Given the description of an element on the screen output the (x, y) to click on. 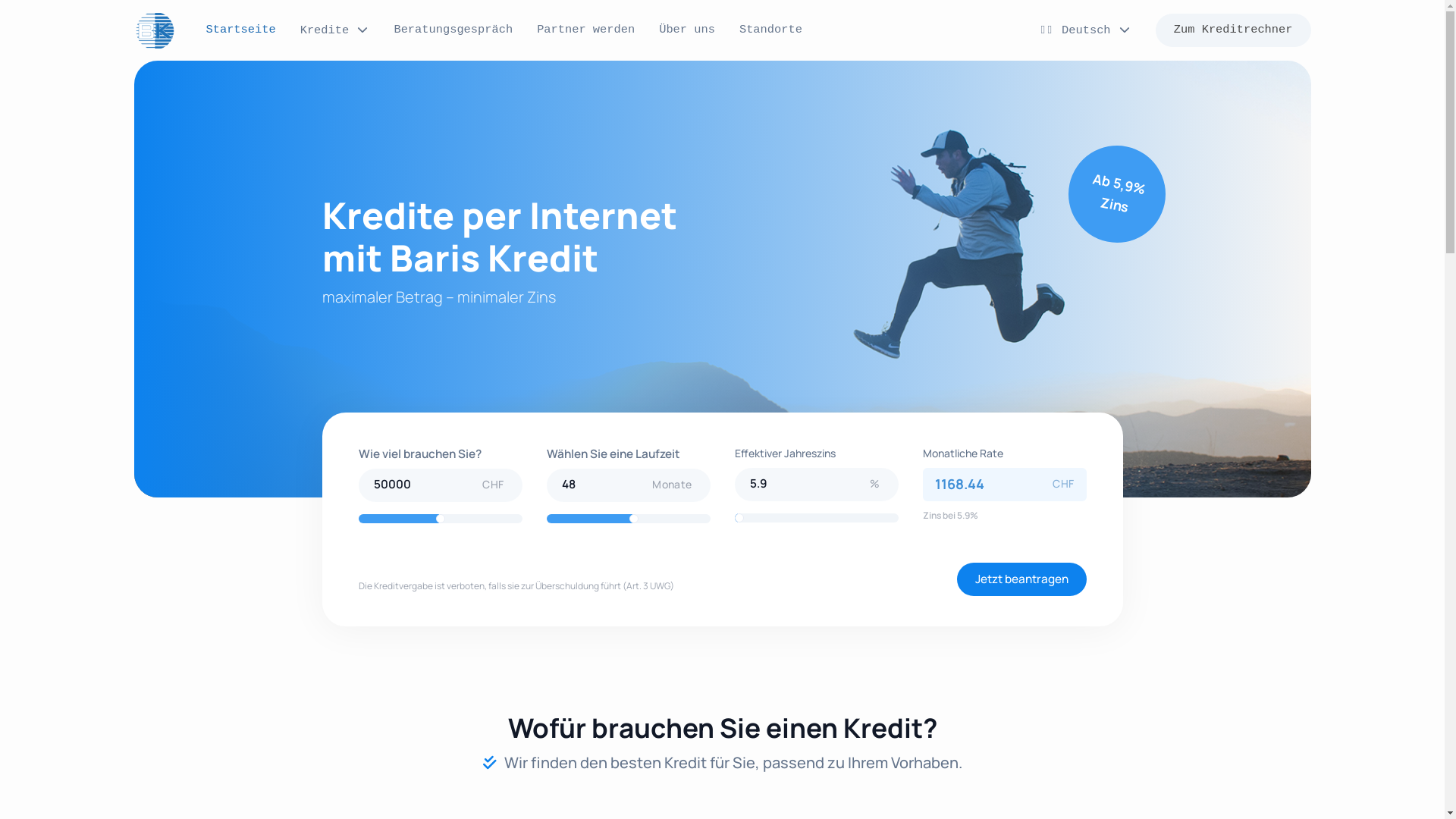
Standorte Element type: text (770, 30)
Jetzt beantragen Element type: text (1021, 579)
Zum Kreditrechner Element type: text (1233, 29)
Partner werden Element type: text (585, 29)
Startseite Element type: text (241, 30)
Partner werden Element type: text (585, 30)
Startseite Element type: text (241, 29)
Standorte Element type: text (770, 29)
Kredite Element type: text (335, 30)
Jetzt beantragen Element type: text (1021, 578)
Zum Kreditrechner Element type: text (1233, 30)
